Given the description of an element on the screen output the (x, y) to click on. 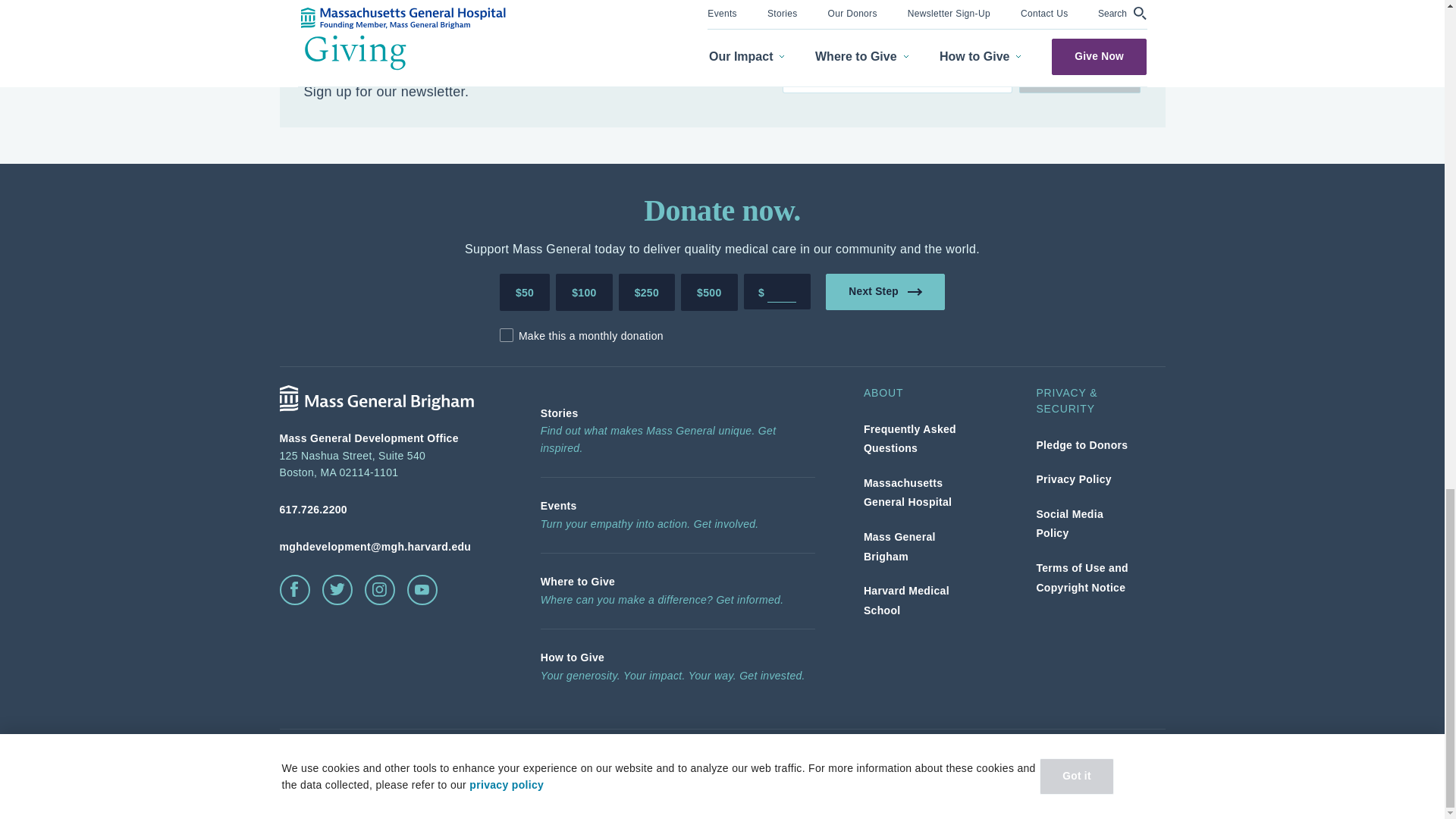
Subscribe (1079, 74)
